Given the description of an element on the screen output the (x, y) to click on. 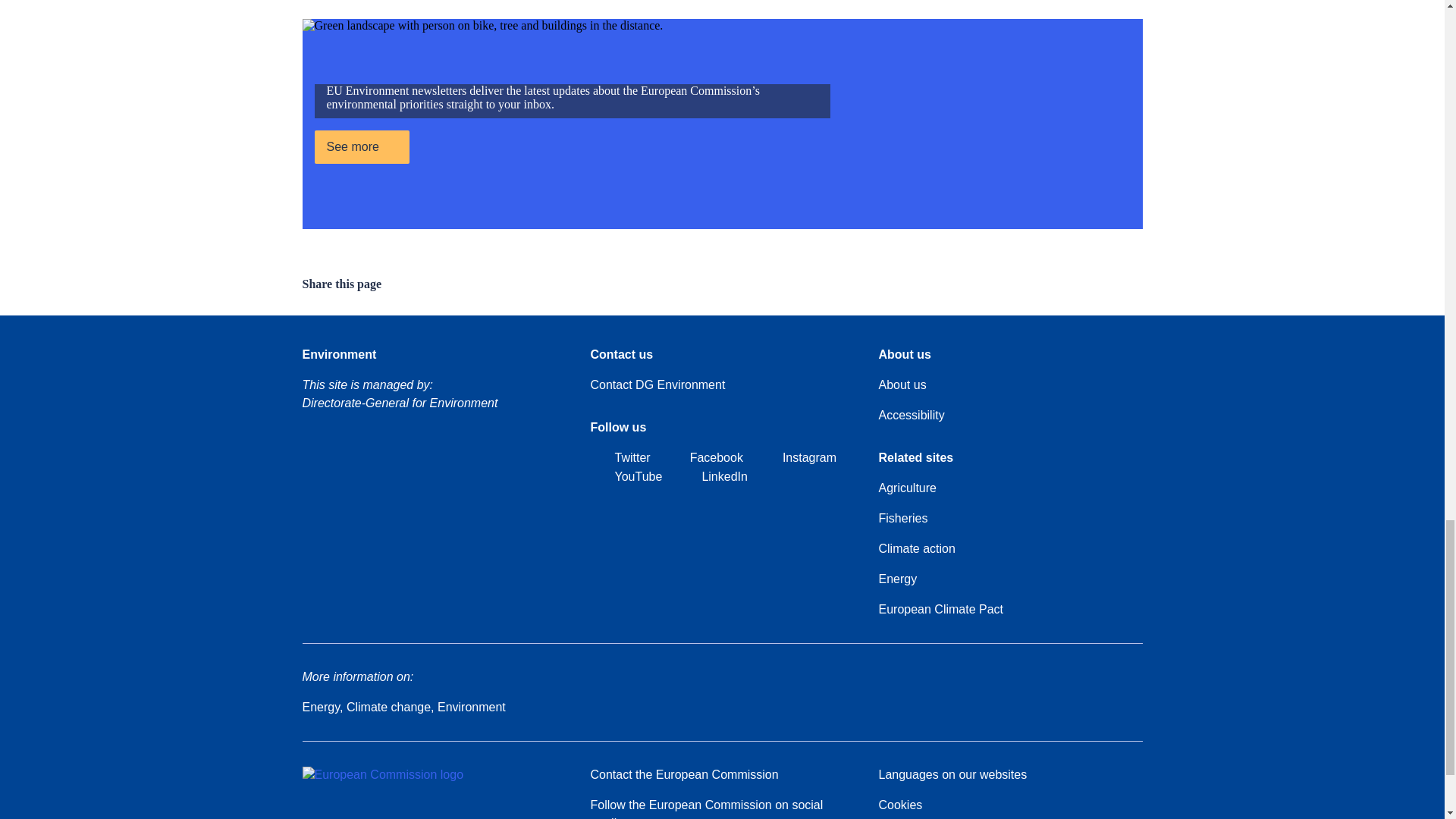
European Commission (382, 774)
Accessibility (910, 415)
Contact the European Commission (683, 774)
Facebook (703, 457)
Contact DG Environment (657, 384)
YouTube (625, 476)
Fisheries (902, 518)
Follow the European Commission on social media (721, 807)
LinkedIn (712, 476)
See more (361, 146)
About us (901, 384)
Twitter (619, 457)
Energy (897, 579)
Agriculture (906, 488)
Climate action (916, 548)
